Given the description of an element on the screen output the (x, y) to click on. 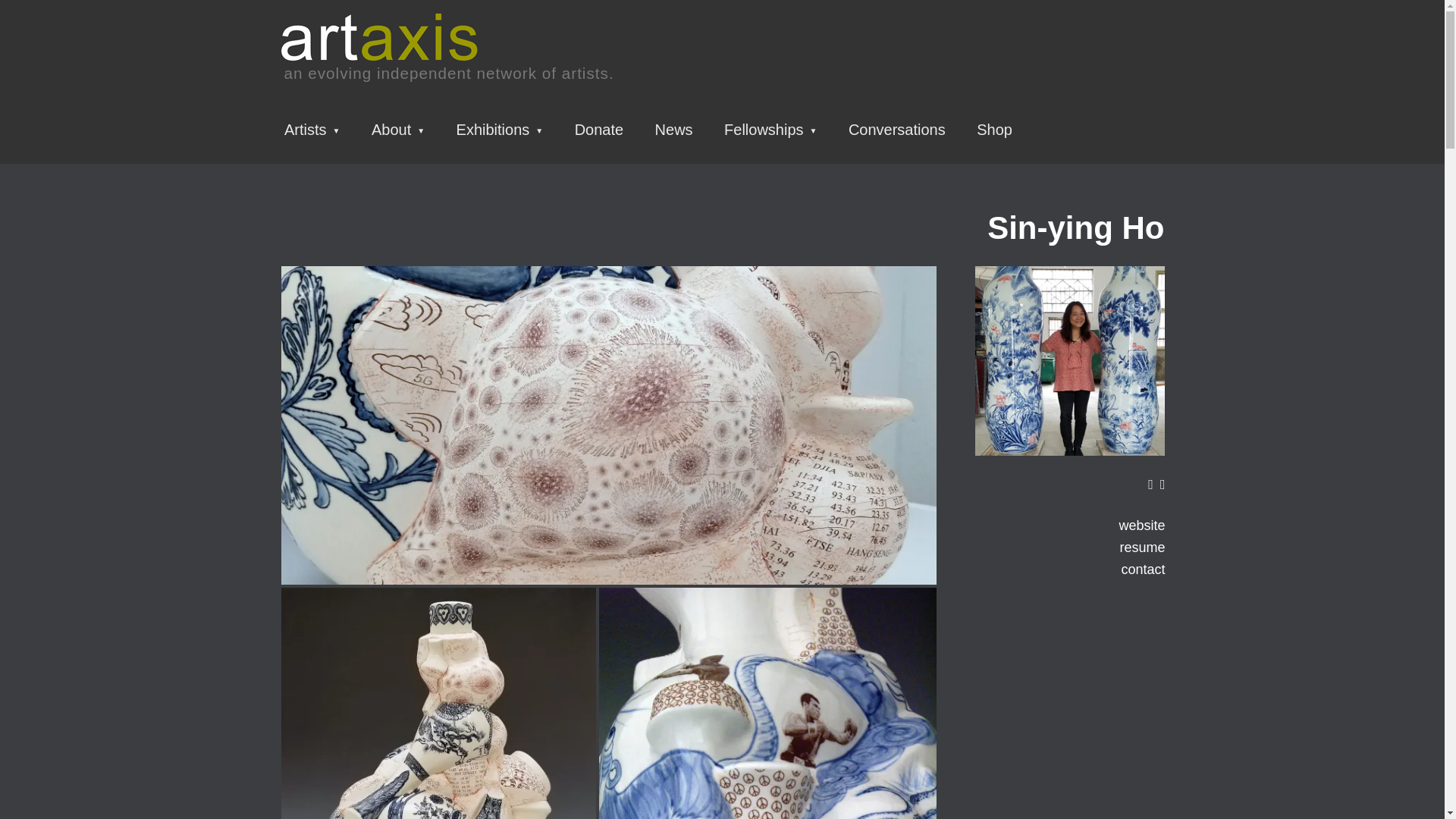
resume (1069, 547)
Donate (597, 131)
Shop (992, 131)
Conversations (895, 131)
News (671, 131)
Beyond Borders-passage of time (438, 703)
an evolving independent network of artists. (446, 55)
website (1069, 526)
Crouching Tiger and Hidden Dragon detail (767, 703)
